Given the description of an element on the screen output the (x, y) to click on. 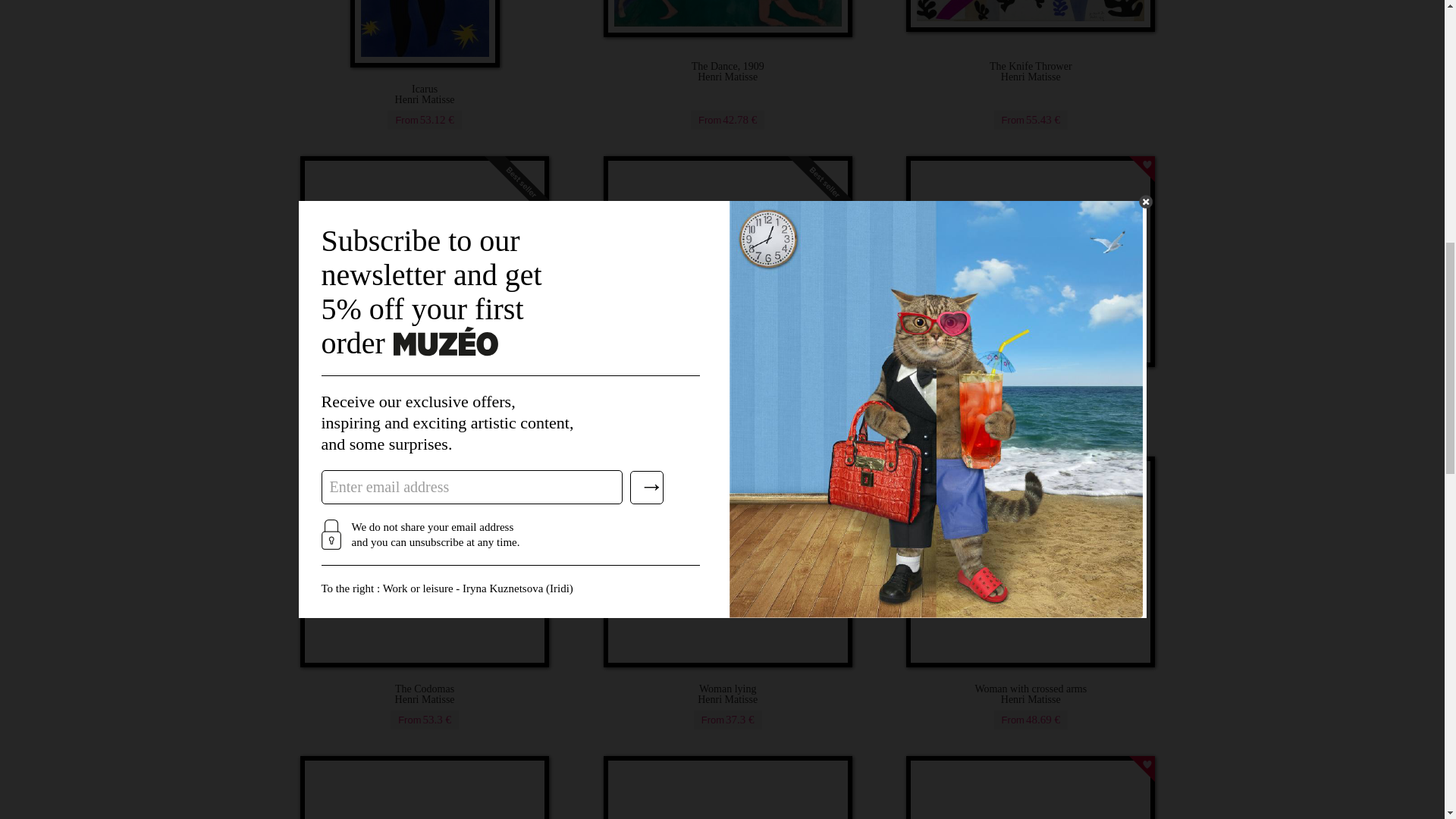
The Dance, 1909 (727, 71)
Icarus (424, 94)
The Knife Thrower (1030, 71)
Luxury, Serenity and Pleasure (424, 394)
